Given the description of an element on the screen output the (x, y) to click on. 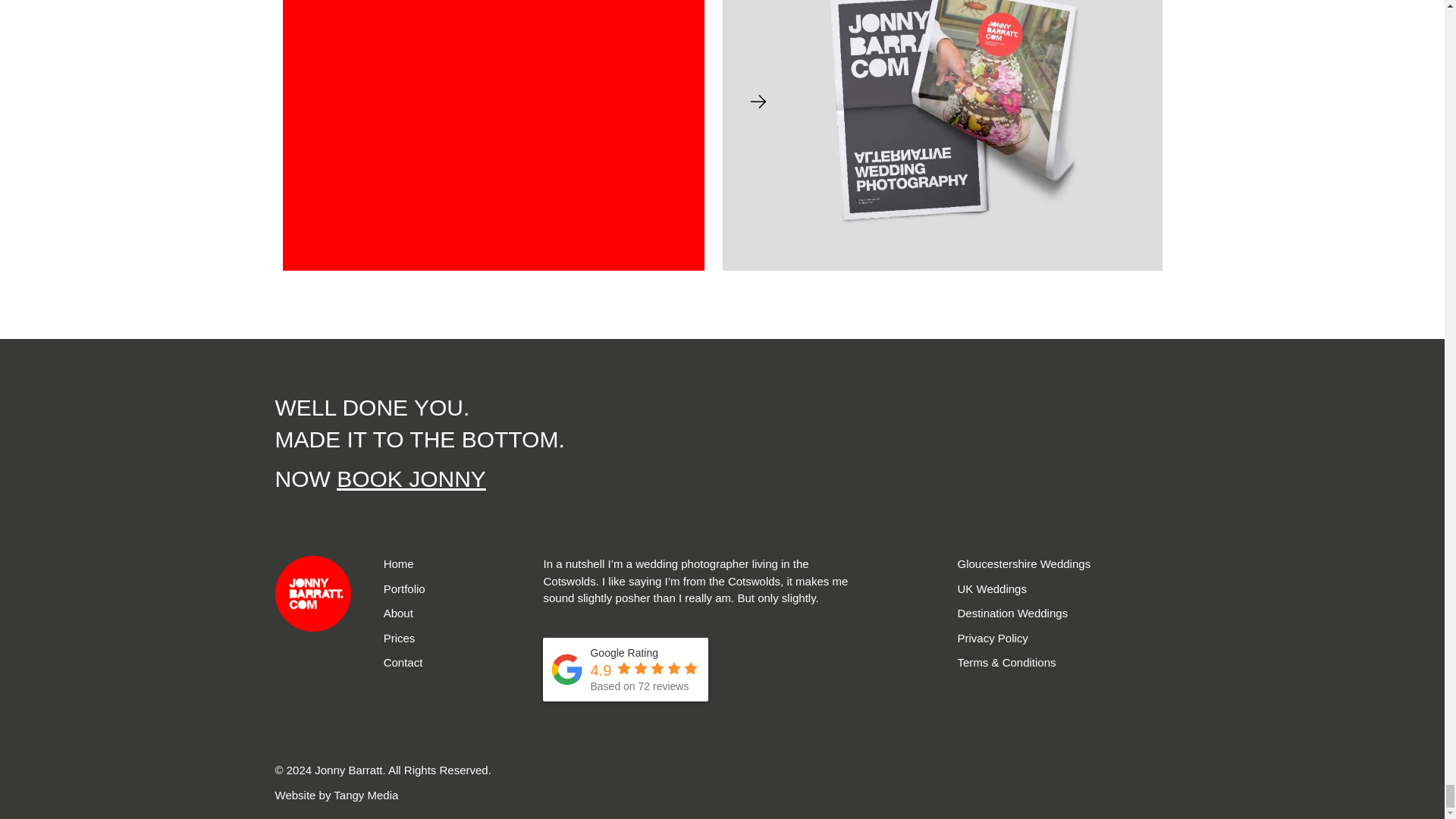
Tangy Media (365, 794)
Privacy Policy (991, 637)
About (398, 612)
UK Weddings (991, 588)
Destination Weddings (1011, 612)
Portfolio (404, 588)
Prices (399, 637)
Contact (403, 662)
Gloucestershire Weddings (1023, 563)
NOW BOOK JONNY (379, 478)
Home (398, 563)
